Given the description of an element on the screen output the (x, y) to click on. 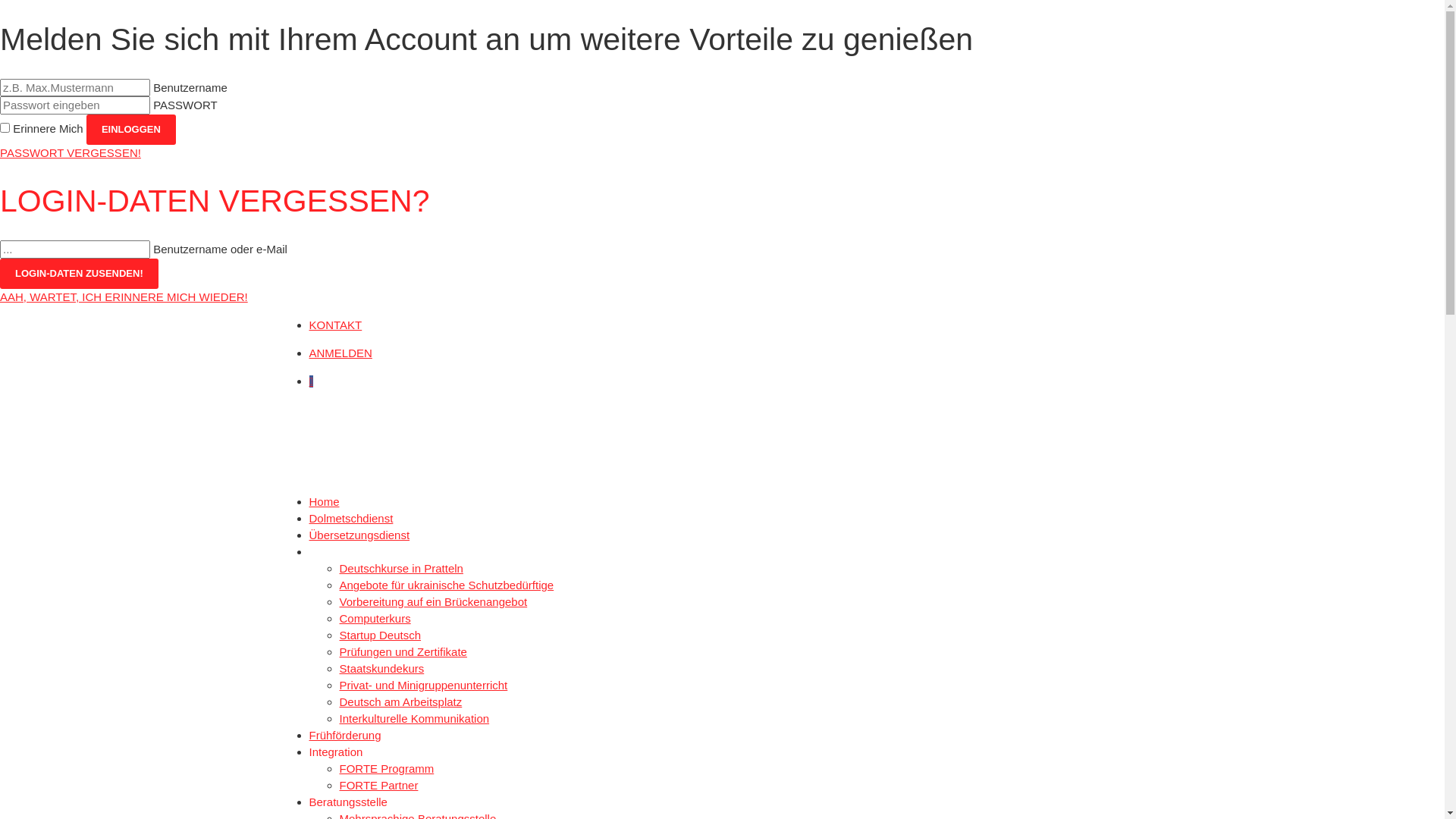
Interkulturelle Kommunikation Element type: text (414, 718)
Privat- und Minigruppenunterricht Element type: text (423, 684)
LOGIN-DATEN ZUSENDEN! Element type: text (79, 273)
Staatskundekurs Element type: text (381, 668)
FORTE Programm Element type: text (386, 768)
Home Element type: text (324, 501)
Startup Deutsch Element type: text (380, 634)
FORTE Partner Element type: text (378, 784)
ANMELDEN Element type: text (340, 352)
PASSWORT VERGESSEN! Element type: text (70, 152)
AAH, WARTET, ICH ERINNERE MICH WIEDER! Element type: text (123, 296)
Integration Element type: text (336, 751)
Deutschkurse in Pratteln Element type: text (401, 567)
Computerkurs Element type: text (375, 617)
Deutsch am Arbeitsplatz Element type: text (400, 701)
Facebook Element type: hover (311, 381)
EINLOGGEN Element type: text (130, 128)
Beratungsstelle Element type: text (348, 801)
Dolmetschdienst Element type: text (351, 517)
Kurse Element type: text (323, 551)
KONTAKT Element type: text (335, 324)
